Given the description of an element on the screen output the (x, y) to click on. 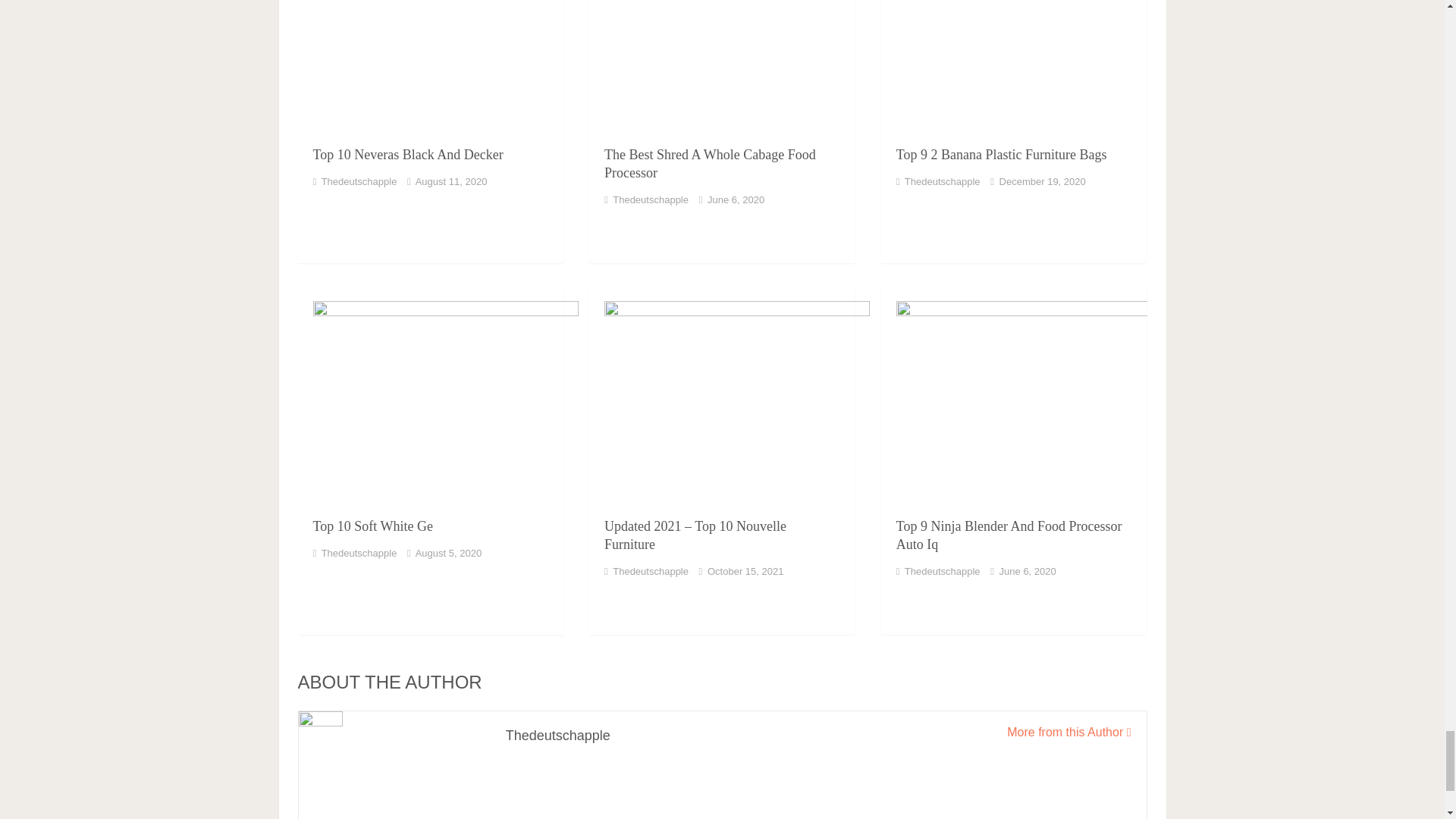
Top 9 2 Banana Plastic Furniture Bags (1001, 154)
Posts by thedeutschapple (941, 181)
Top 10 Soft White Ge (430, 395)
Posts by thedeutschapple (359, 181)
Posts by thedeutschapple (650, 199)
Top 10 Neveras Black And Decker (407, 154)
The Best Shred A Whole Cabage Food Processor (709, 163)
The Best Shred A Whole Cabage Food Processor (722, 67)
Top 10 Neveras Black And Decker (430, 67)
Top 9 2 Banana Plastic Furniture Bags (1013, 67)
